Given the description of an element on the screen output the (x, y) to click on. 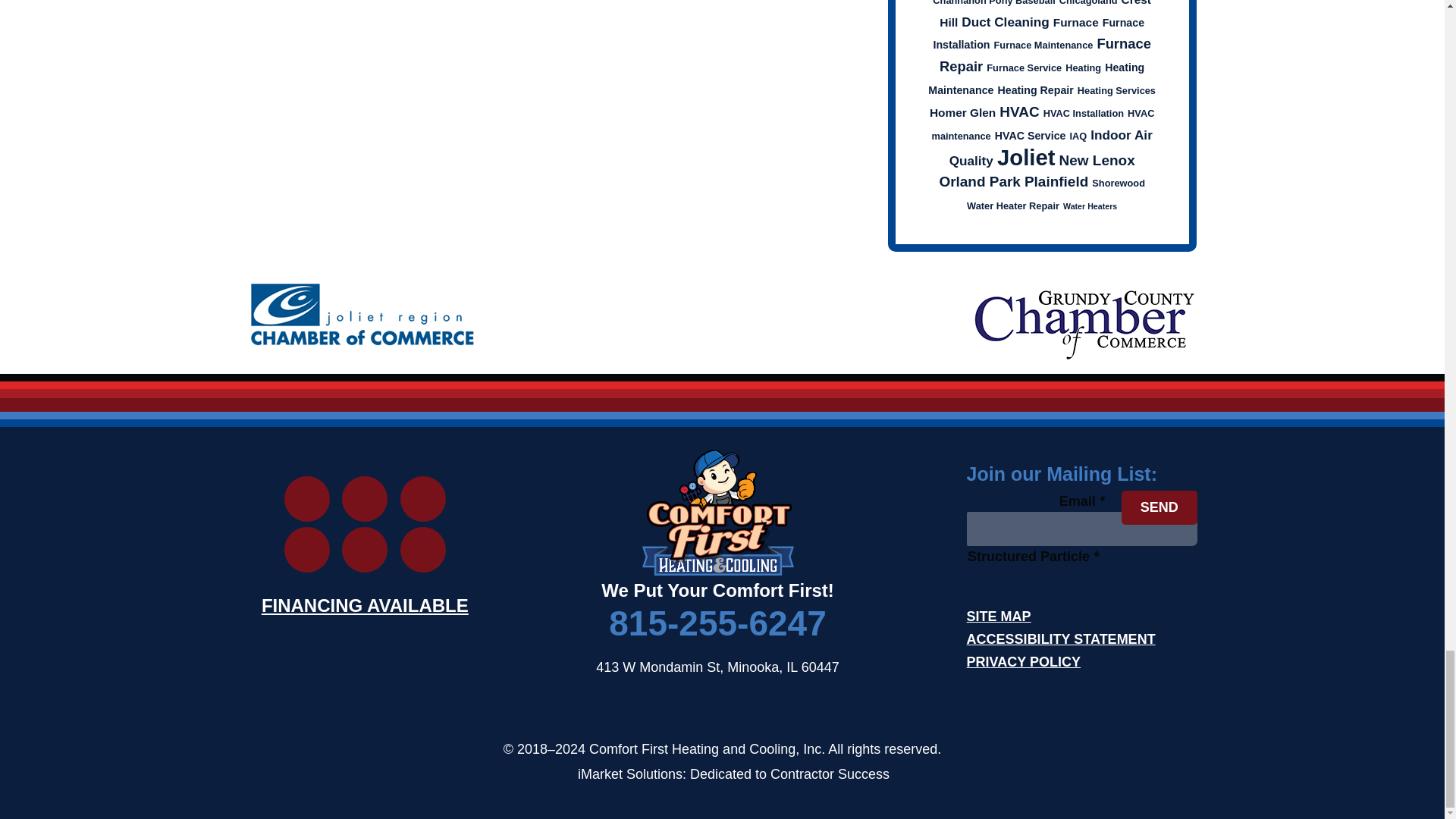
Comfort First Heating and Cooling, Inc. on Facebook (422, 549)
Comfort First Heating and Cooling, Inc. on Instagram (306, 498)
Comfort First Heating and Cooling, Inc. on Yelp (364, 498)
Comfort First Heating and Cooling, Inc. on Twitter (364, 549)
Comfort First Heating and Cooling, Inc. on LinkedIn (422, 498)
Comfort First Heating and Cooling, Inc. on Google Maps (306, 549)
